Given the description of an element on the screen output the (x, y) to click on. 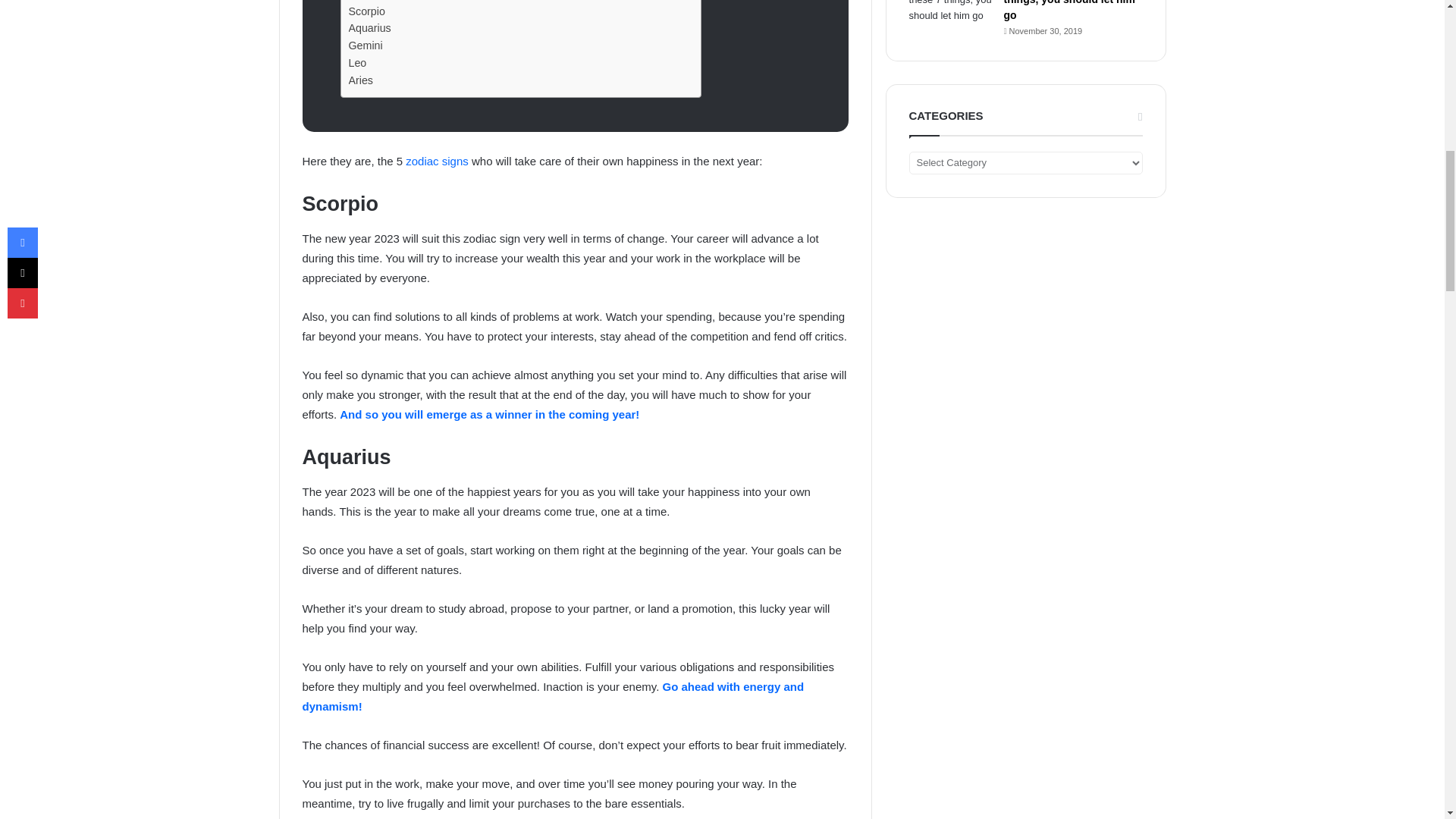
Leo (357, 63)
Scorpio (367, 11)
Aquarius (370, 27)
Aries (360, 80)
Gemini (365, 45)
